Given the description of an element on the screen output the (x, y) to click on. 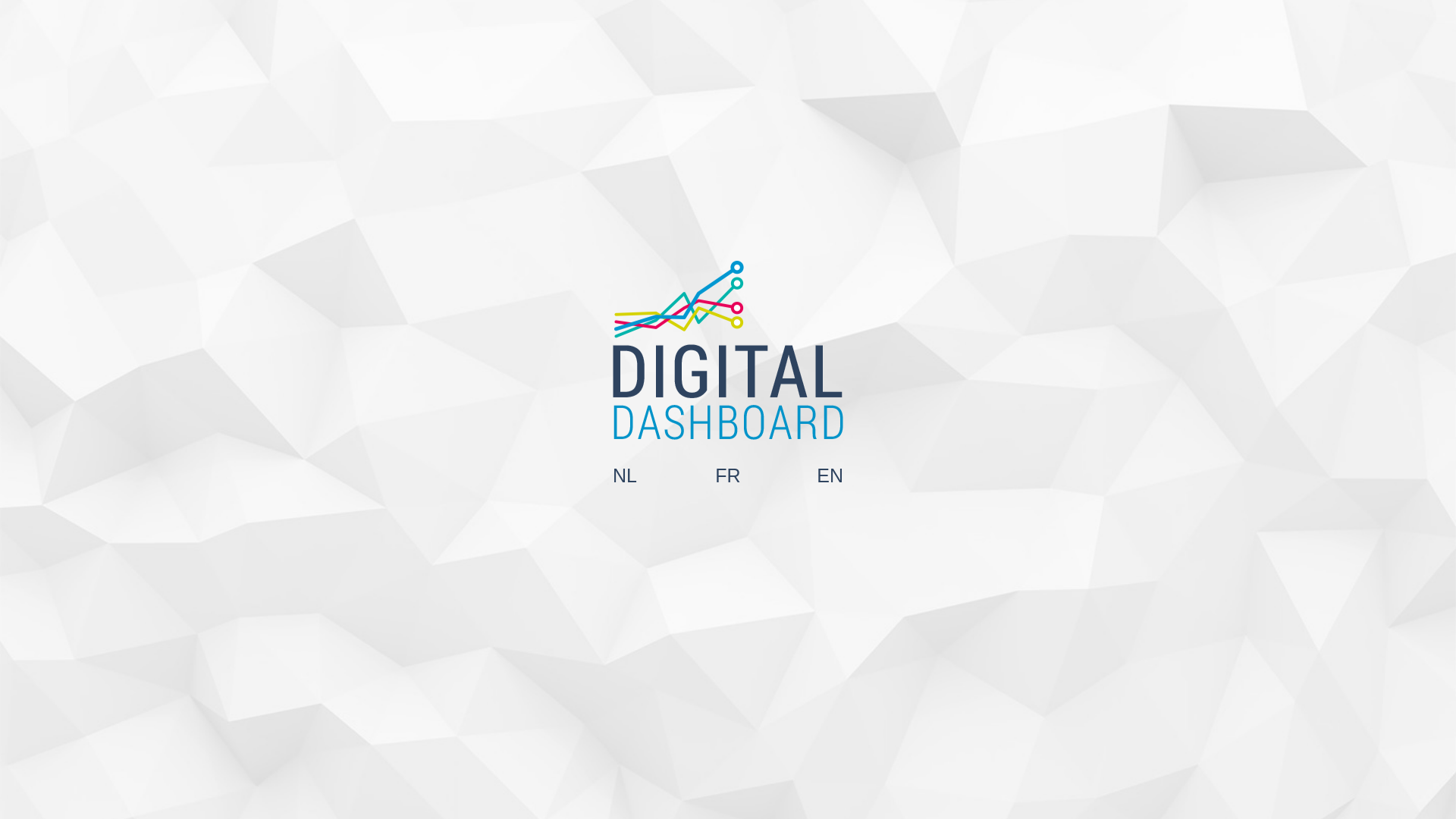
Skip to main content Element type: text (0, 0)
FR Element type: text (727, 475)
EN Element type: text (829, 475)
NL Element type: text (624, 475)
